Given the description of an element on the screen output the (x, y) to click on. 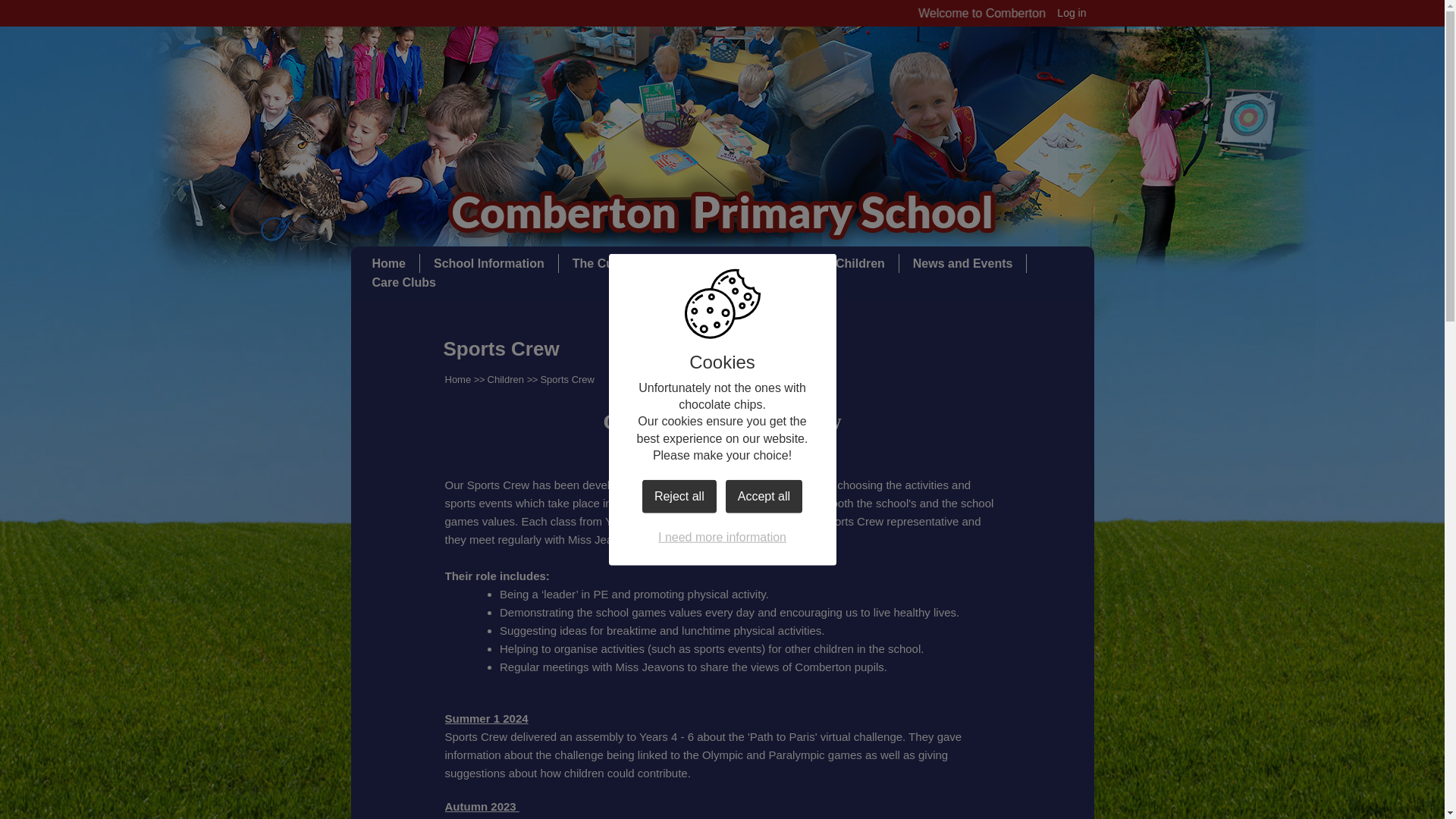
Home (387, 268)
School Information (488, 268)
Sports Crew (567, 378)
Home (457, 378)
The Curriculum (617, 268)
Home Page (721, 214)
Log in (1071, 13)
Children (505, 378)
Home Page (721, 214)
